Given the description of an element on the screen output the (x, y) to click on. 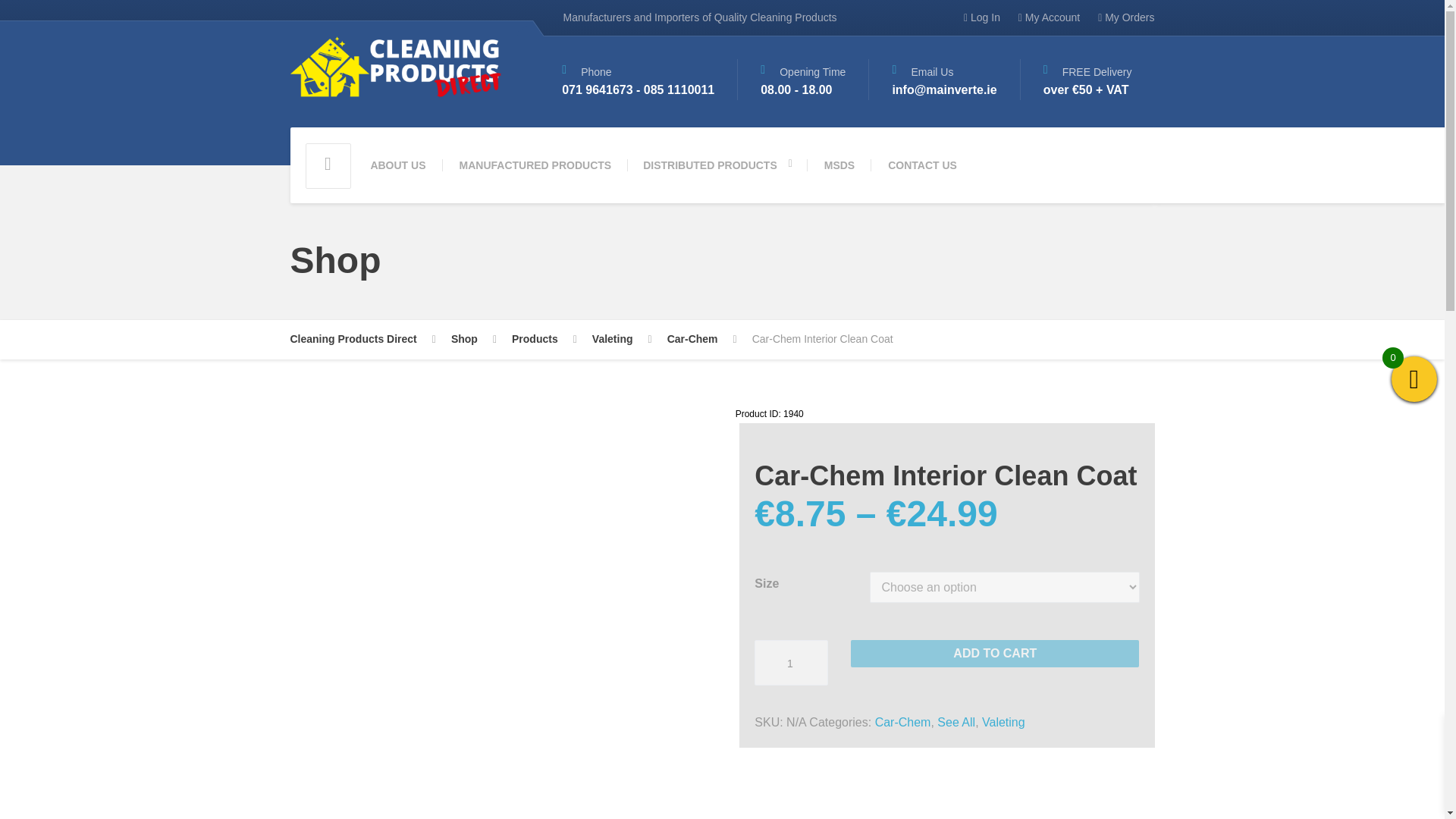
Products (544, 339)
ABOUT US (397, 165)
Go to Cleaning Products Direct. (362, 339)
1 (790, 662)
DISTRIBUTED PRODUCTS (717, 165)
Car-Chem (903, 721)
Cleaning Products Direct (362, 339)
MANUFACTURED PRODUCTS (535, 165)
Go to Shop. (473, 339)
CONTACT US (922, 165)
Go to Products. (544, 339)
Car-Chem (701, 339)
ADD TO CART (994, 653)
Log In (981, 18)
Go to the Valeting Category archives. (622, 339)
